Given the description of an element on the screen output the (x, y) to click on. 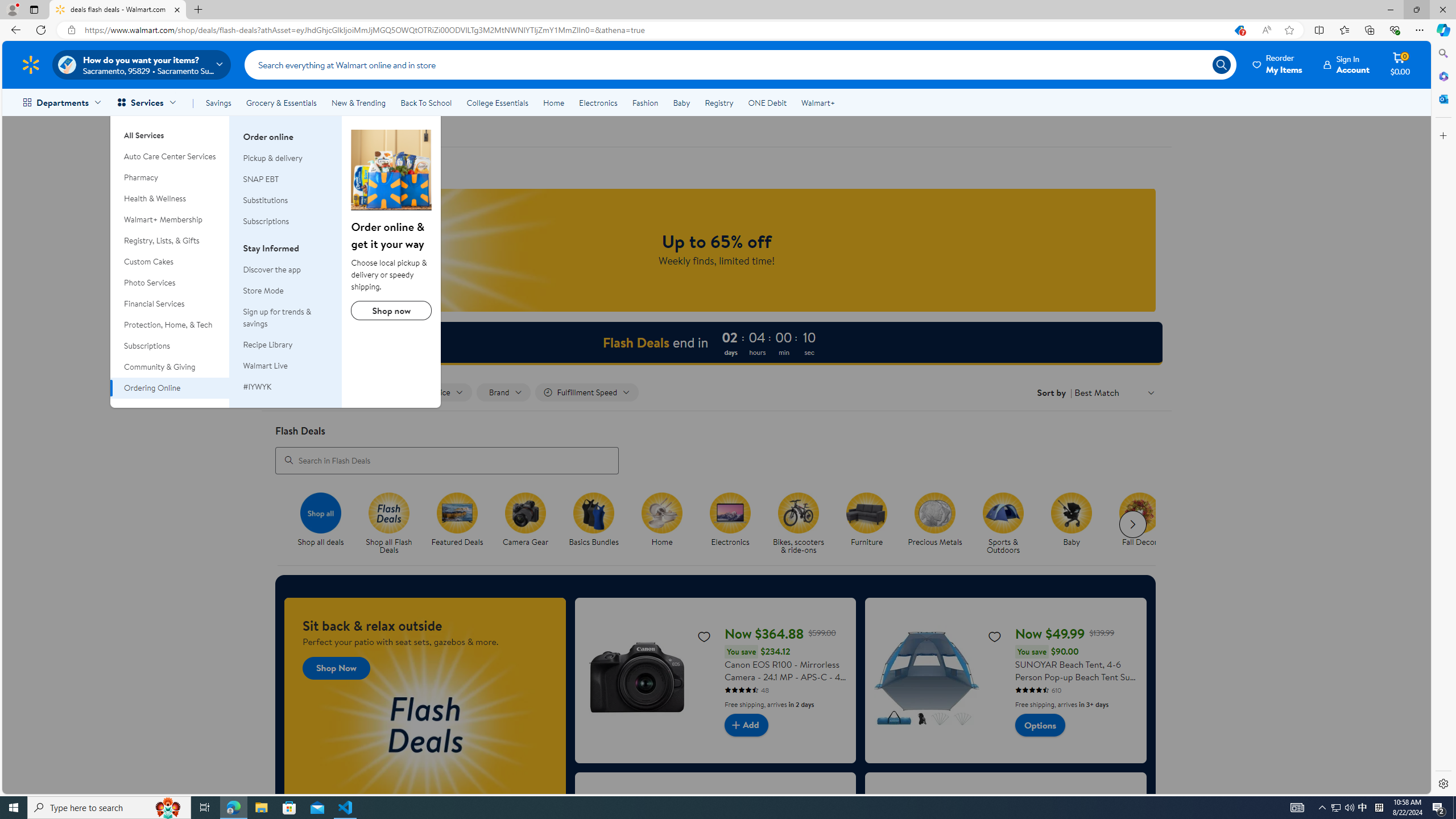
Shop all Shop all deals (320, 519)
Basics Bundles (593, 512)
Health & Wellness (170, 198)
Filter by In-store (375, 392)
Camera Gear (525, 512)
Precious Metals (939, 524)
Pickup & delivery (272, 157)
Flash Deals (388, 512)
New & Trending (358, 102)
Registry, Lists, & Gifts (170, 240)
